Given the description of an element on the screen output the (x, y) to click on. 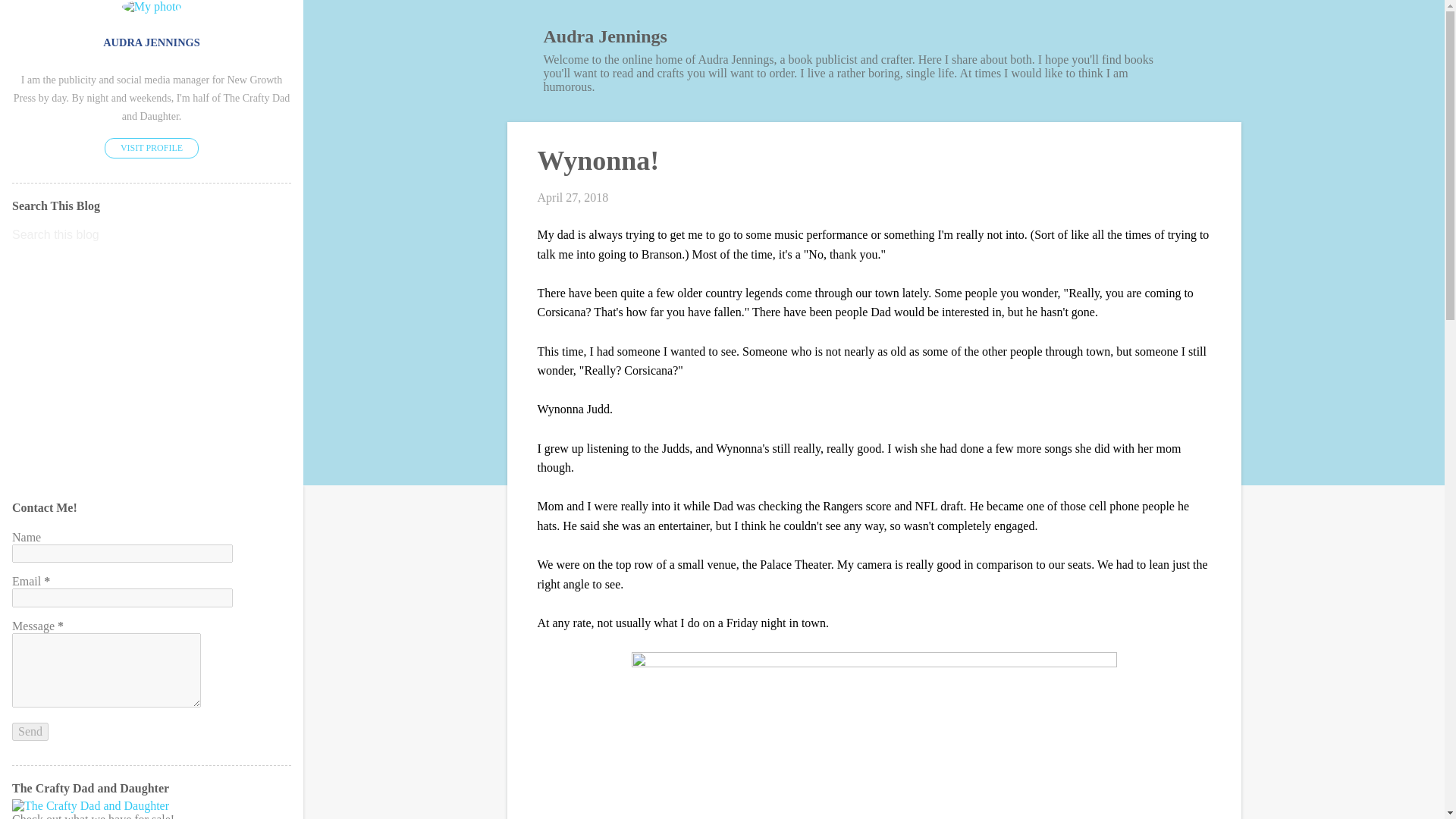
Audra Jennings (604, 35)
Search (31, 18)
April 27, 2018 (572, 196)
permanent link (572, 196)
AUDRA JENNINGS (151, 42)
VISIT PROFILE (151, 148)
Send (29, 731)
